Given the description of an element on the screen output the (x, y) to click on. 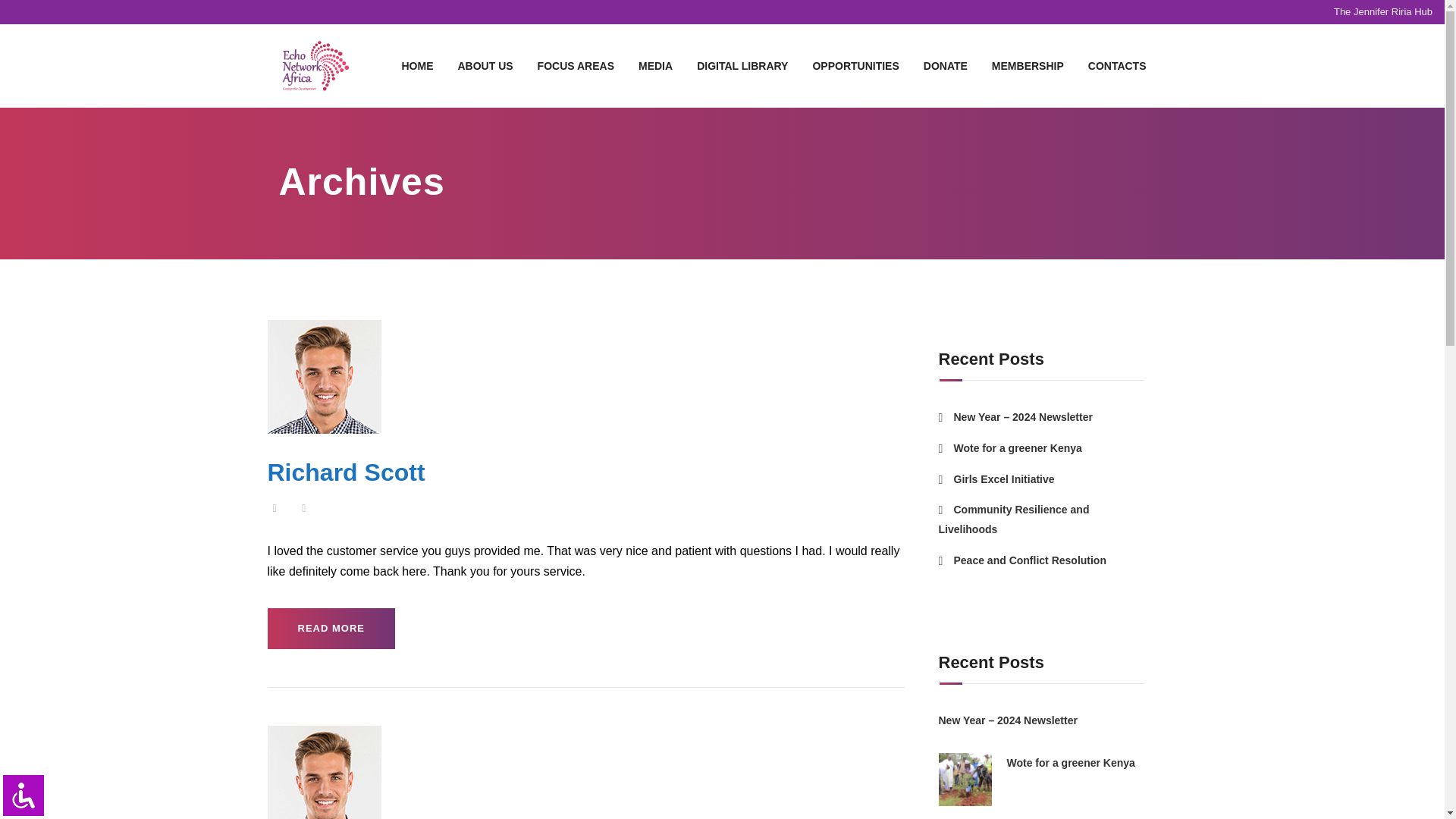
CONTACTS (1117, 65)
FOCUS AREAS (575, 65)
DIGITAL LIBRARY (742, 65)
Enafrica (315, 65)
Richard Scott (345, 472)
OPPORTUNITIES (855, 65)
DONATE (945, 65)
MEMBERSHIP (1027, 65)
HOME (416, 65)
MEDIA (655, 65)
ABOUT US (484, 65)
Posted by  (304, 508)
READ MORE (330, 628)
